Given the description of an element on the screen output the (x, y) to click on. 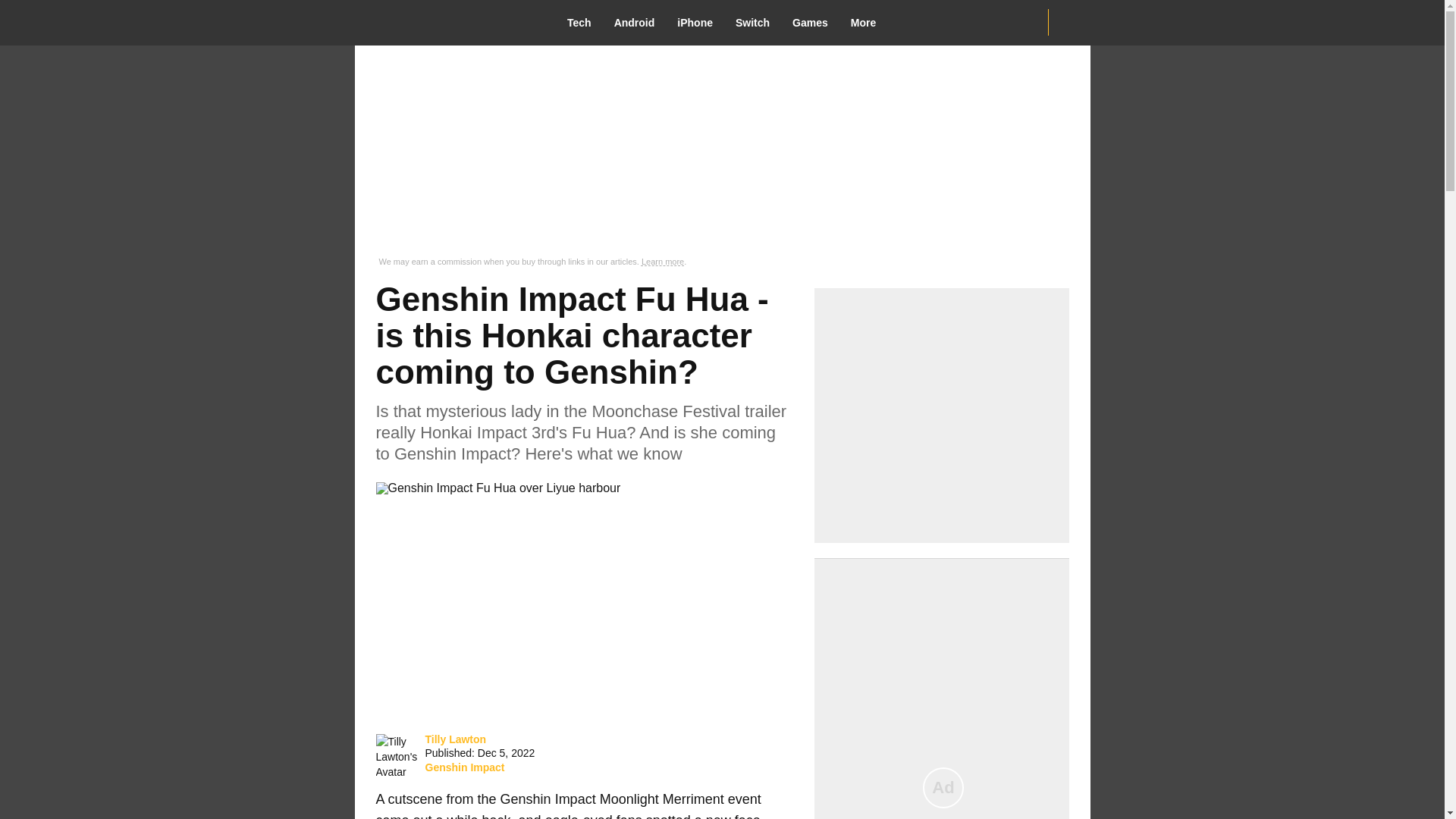
Switch (757, 22)
Learn more (663, 261)
Tilly Lawton (455, 739)
Games (816, 22)
Genshin Impact (464, 767)
iPhone (700, 22)
Network N Media (1068, 22)
Tilly Lawton (396, 756)
Android (640, 22)
